Given the description of an element on the screen output the (x, y) to click on. 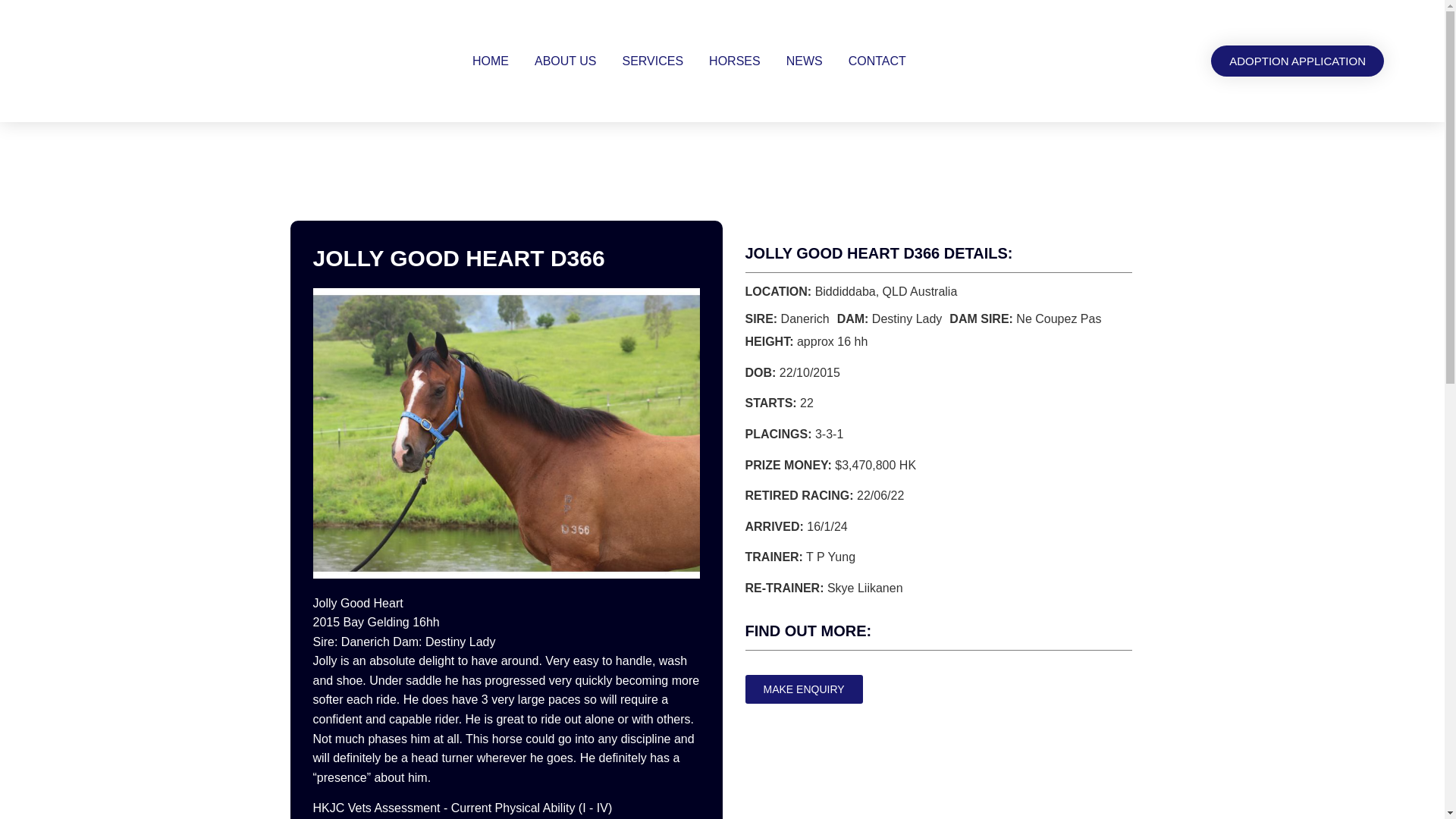
HOME (490, 60)
HORSES (734, 60)
CONTACT (877, 60)
NEWS (804, 60)
MAKE ENQUIRY (802, 688)
SERVICES (652, 60)
ABOUT US (565, 60)
ADOPTION APPLICATION (1297, 60)
